Given the description of an element on the screen output the (x, y) to click on. 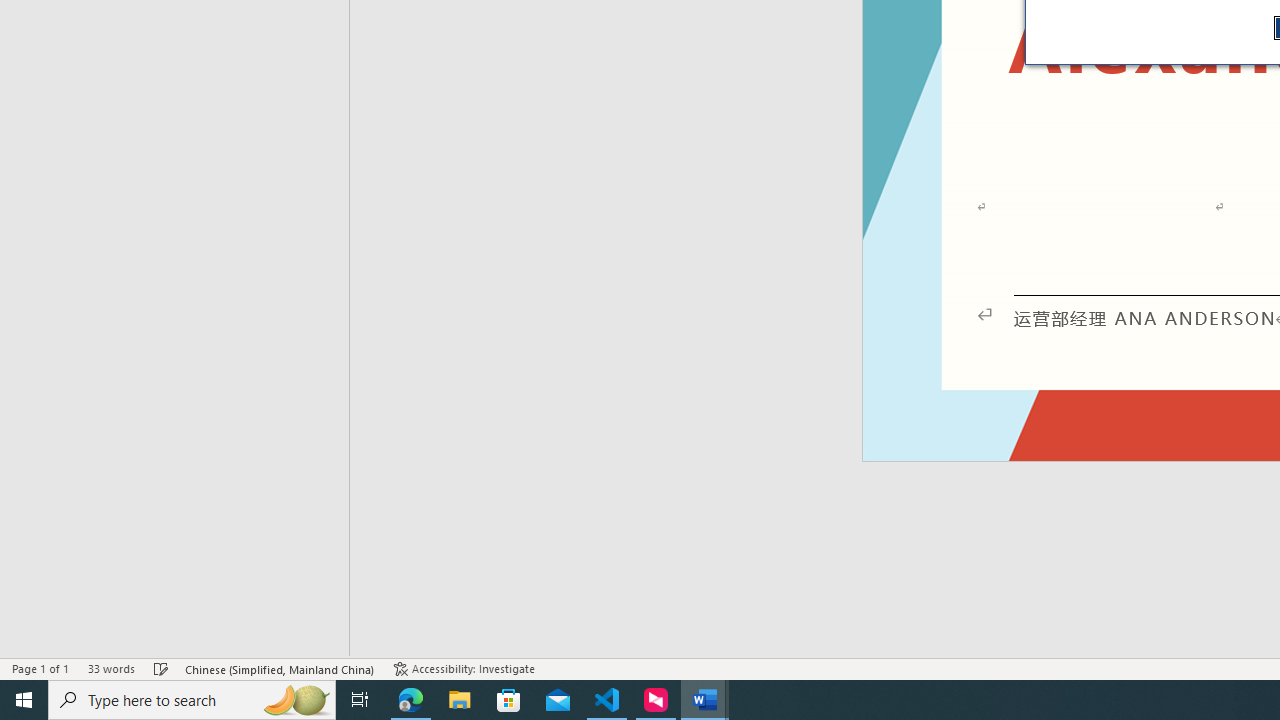
Start (24, 699)
Search highlights icon opens search home window (295, 699)
Microsoft Edge - 1 running window (411, 699)
Microsoft Store (509, 699)
Accessibility Checker Accessibility: Investigate (464, 668)
Visual Studio Code - 1 running window (607, 699)
Word - 2 running windows (704, 699)
Spelling and Grammar Check Checking (161, 668)
Task View (359, 699)
Page Number Page 1 of 1 (39, 668)
File Explorer (460, 699)
Language Chinese (Simplified, Mainland China) (279, 668)
Type here to search (191, 699)
